Given the description of an element on the screen output the (x, y) to click on. 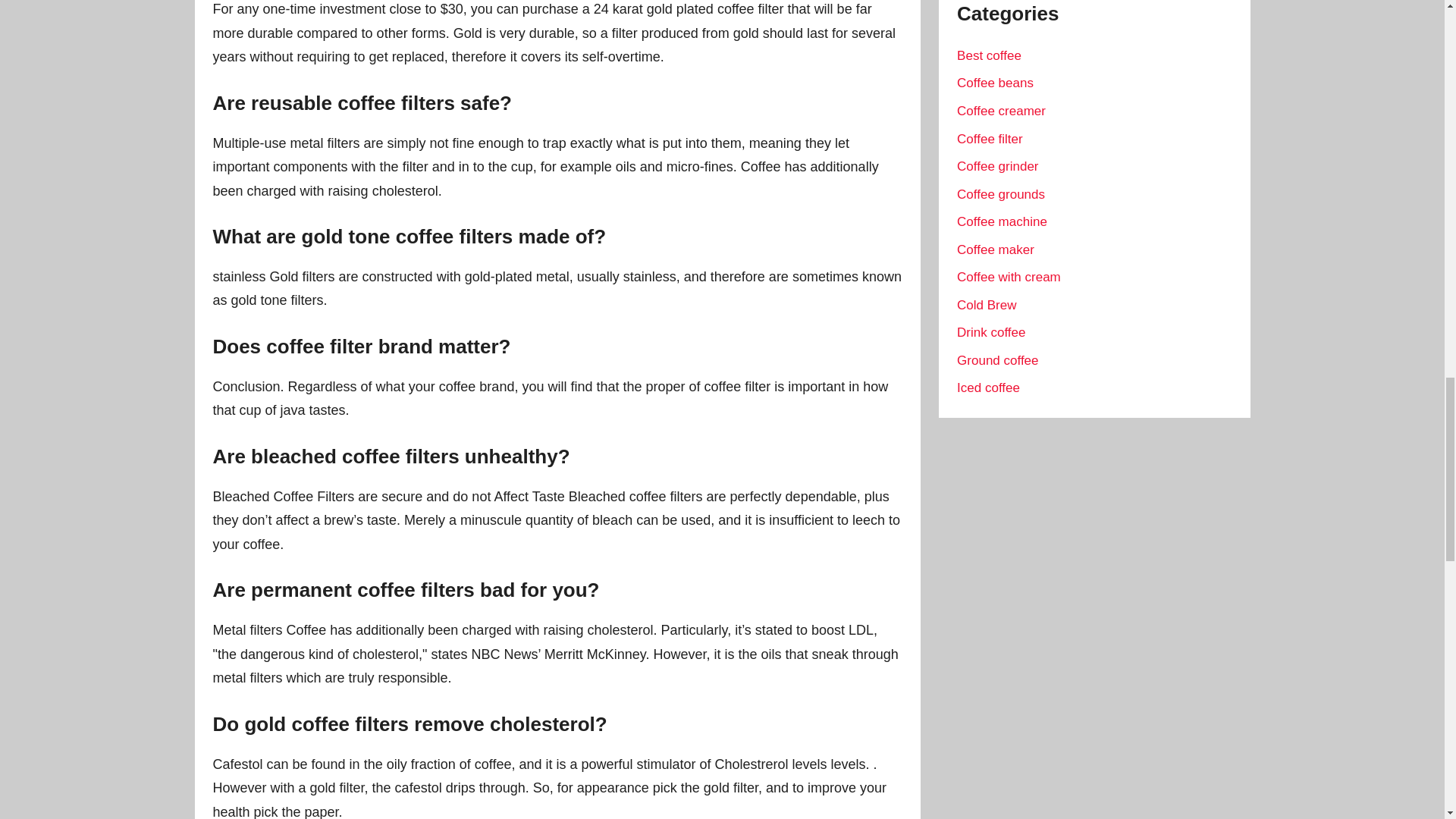
Coffee creamer (1000, 110)
Coffee with cream (1008, 277)
Coffee maker (994, 249)
Coffee filter (989, 138)
Coffee grounds (1000, 194)
Coffee beans (994, 83)
Coffee machine (1001, 221)
Best coffee (989, 55)
Coffee grinder (997, 165)
